Given the description of an element on the screen output the (x, y) to click on. 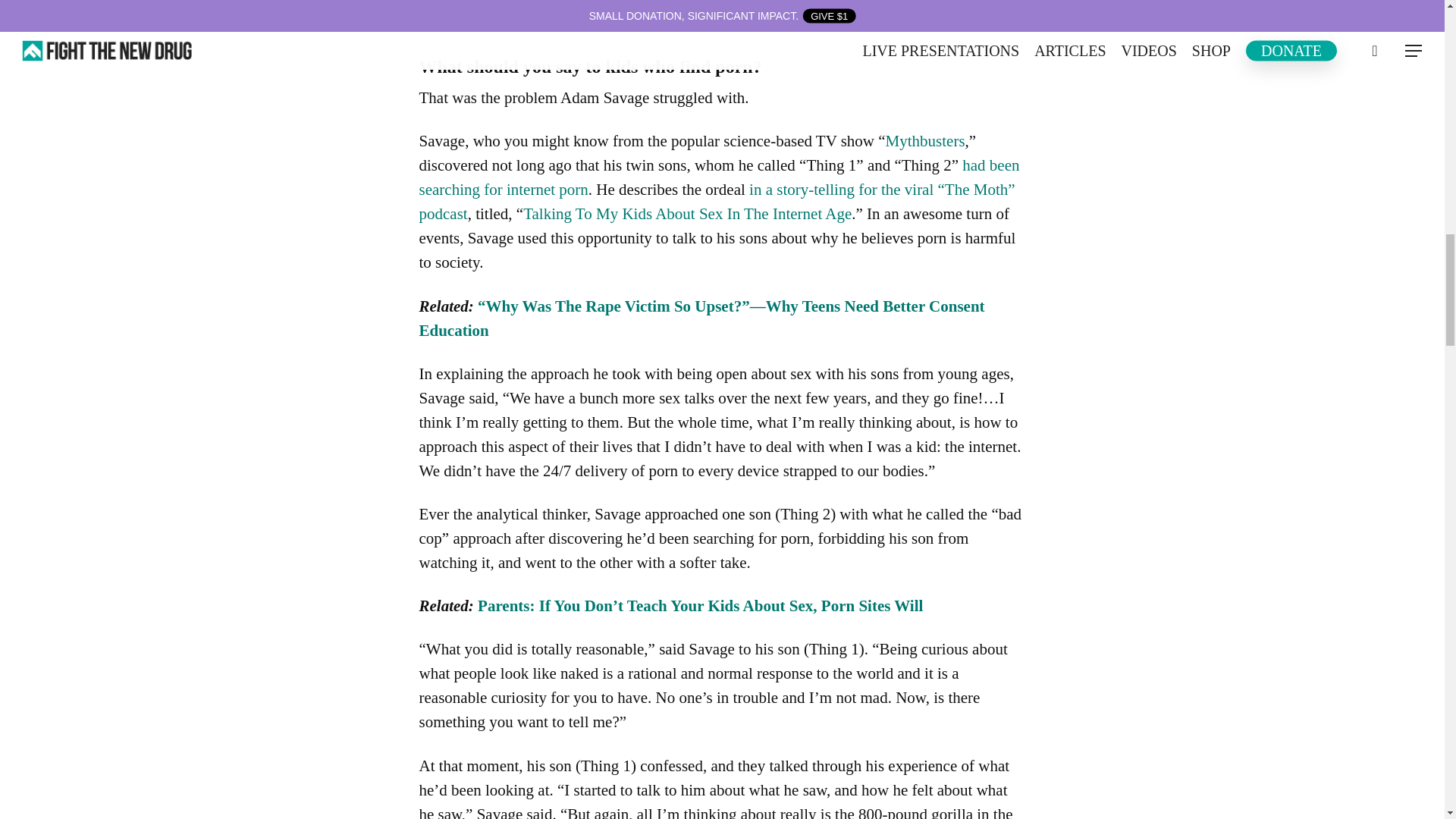
Talking To My Kids About Sex In The Internet Age (686, 213)
Mythbusters (925, 140)
had been searching for internet porn (719, 177)
